Given the description of an element on the screen output the (x, y) to click on. 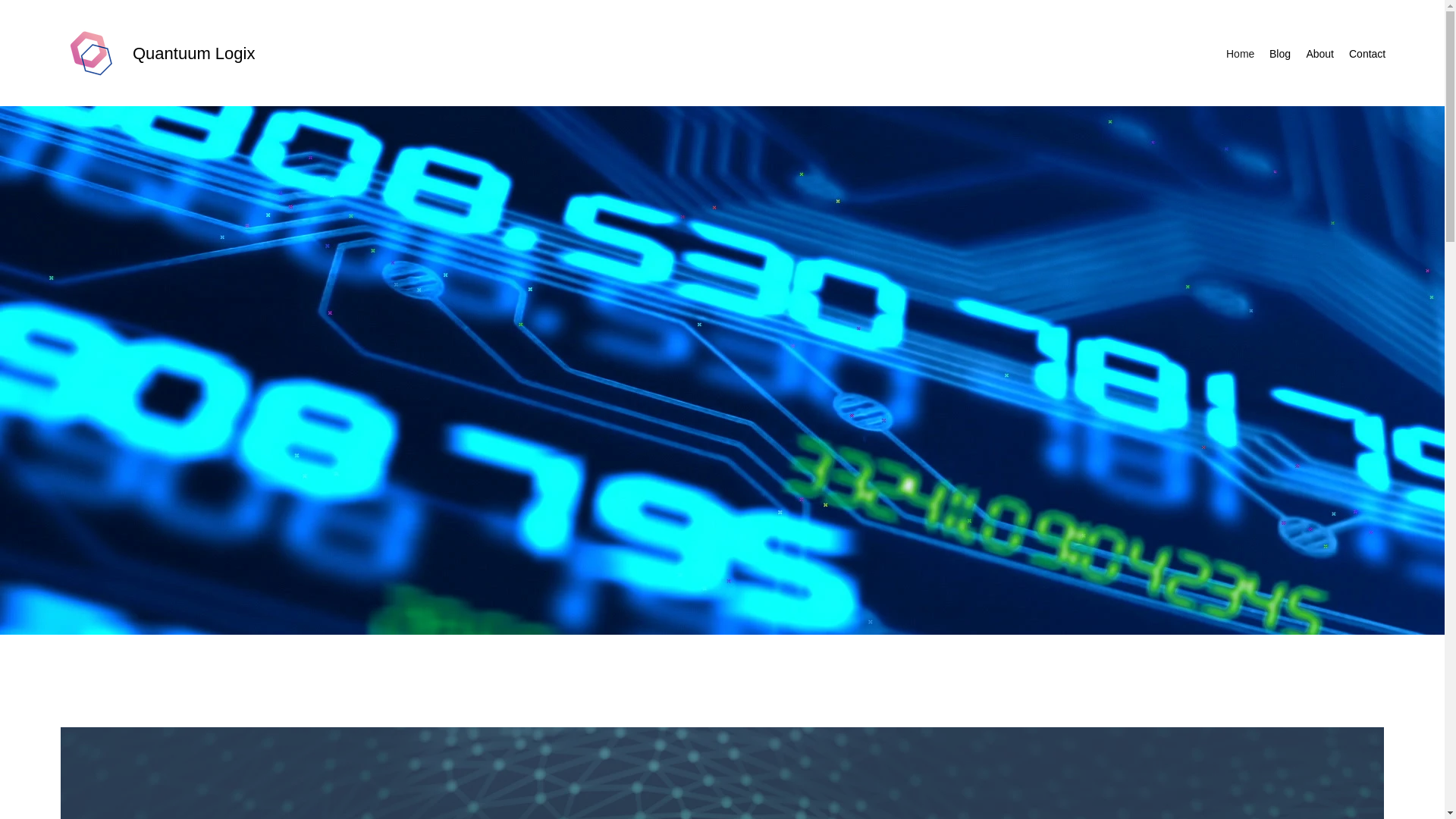
Contact (1365, 53)
Quantuum Logix (193, 53)
Home (1240, 53)
About (1319, 53)
Blog (1280, 53)
